Given the description of an element on the screen output the (x, y) to click on. 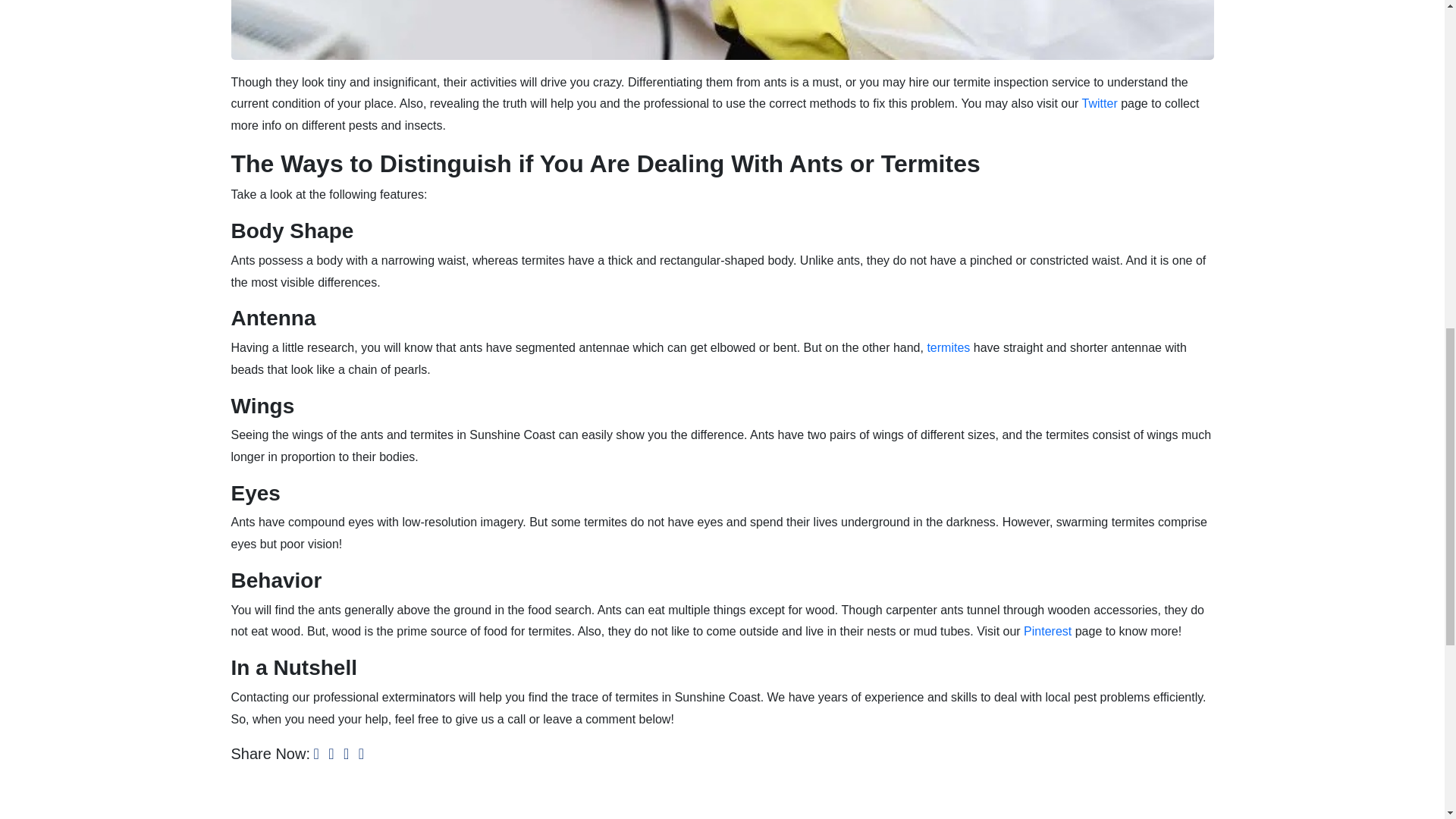
Twitter (1099, 103)
termites (947, 347)
Pinterest (1047, 631)
